Given the description of an element on the screen output the (x, y) to click on. 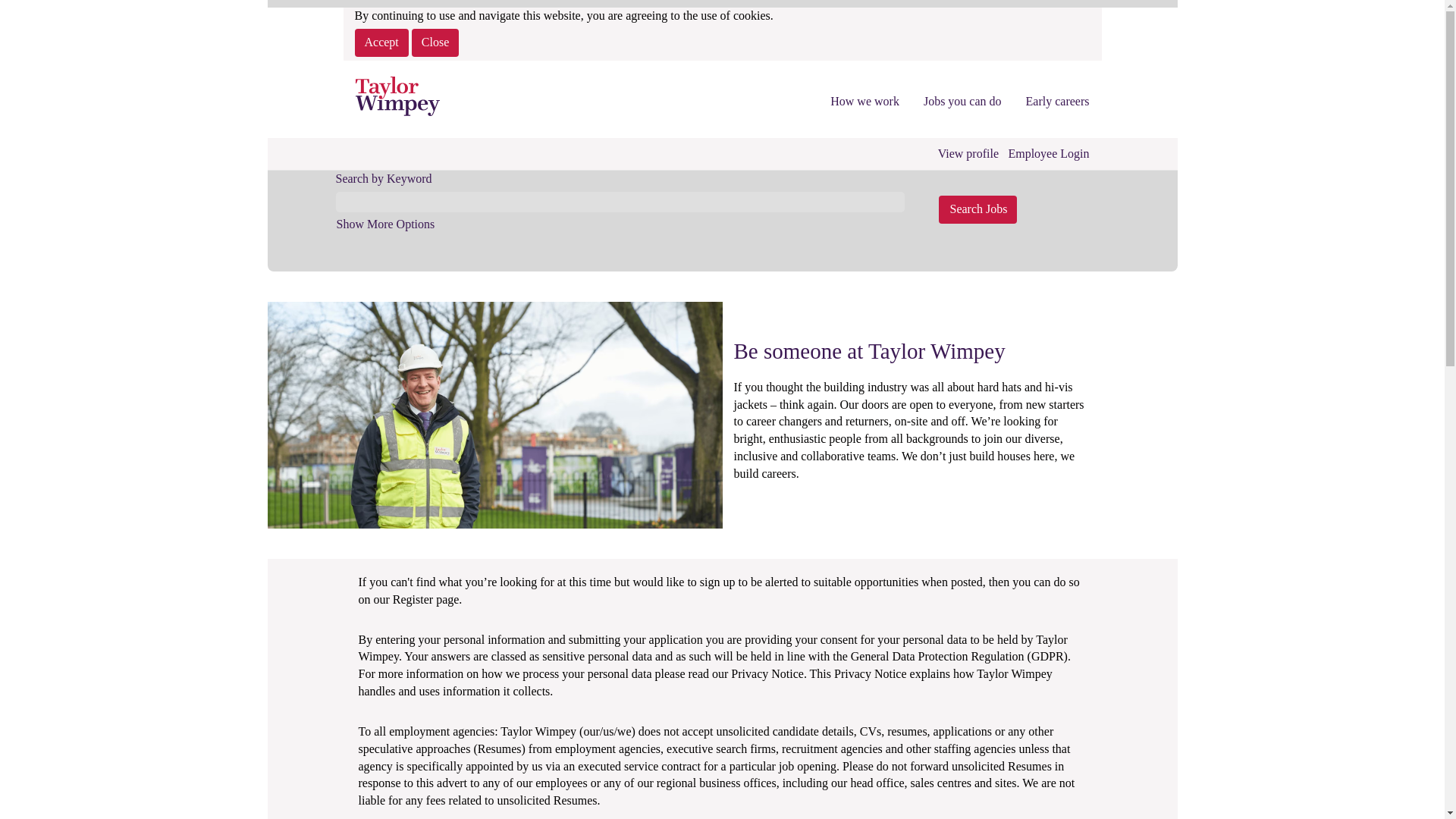
Search Jobs (978, 209)
Show More Options (384, 223)
Search Jobs (978, 209)
Taylor Wimpey (398, 96)
Jobs you can do (963, 101)
Close (435, 42)
Search Jobs (978, 209)
How we work (864, 101)
How we work (864, 101)
Early careers (1057, 101)
Early careers (1057, 101)
Employee Login (1048, 153)
Accept (382, 42)
Accept (382, 42)
Close (435, 42)
